Given the description of an element on the screen output the (x, y) to click on. 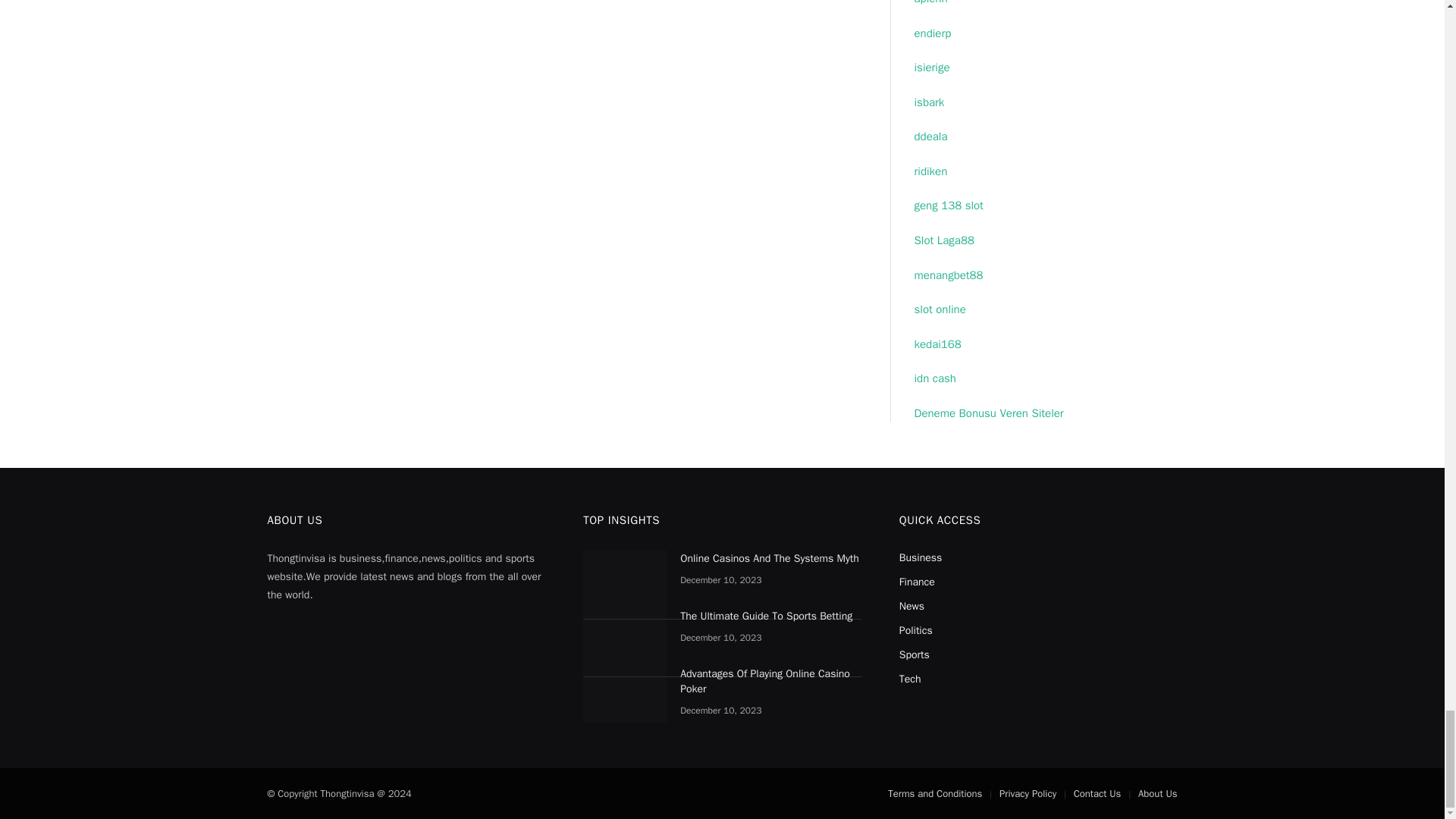
Online Casinos And The Systems Myth (624, 578)
